Given the description of an element on the screen output the (x, y) to click on. 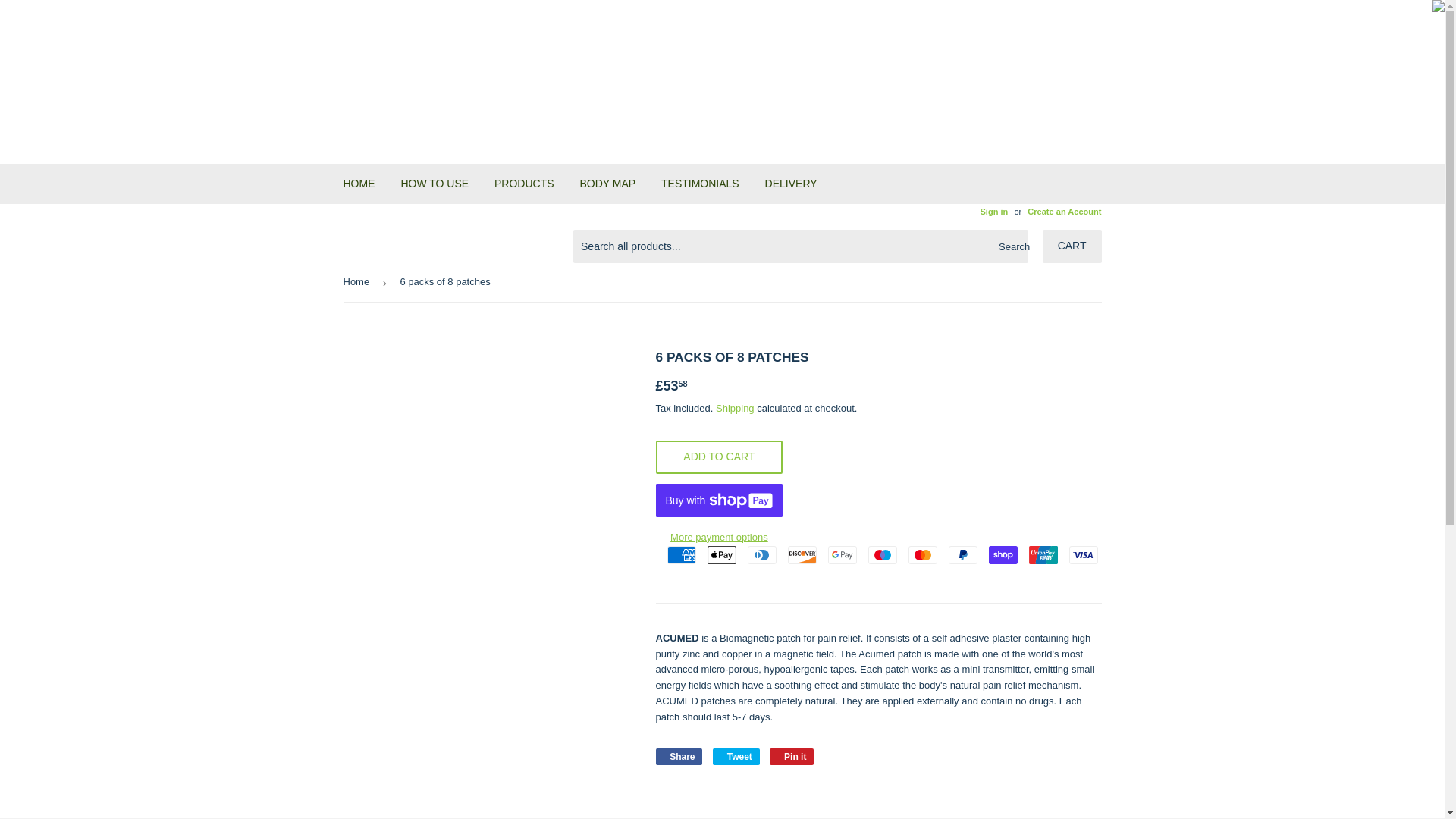
Shop Pay (1002, 555)
Discover (801, 555)
DELIVERY (791, 183)
Apple Pay (720, 555)
Sign in (993, 211)
CART (1072, 246)
PRODUCTS (524, 183)
American Express (680, 555)
TESTIMONIALS (700, 183)
Shipping (735, 408)
